Given the description of an element on the screen output the (x, y) to click on. 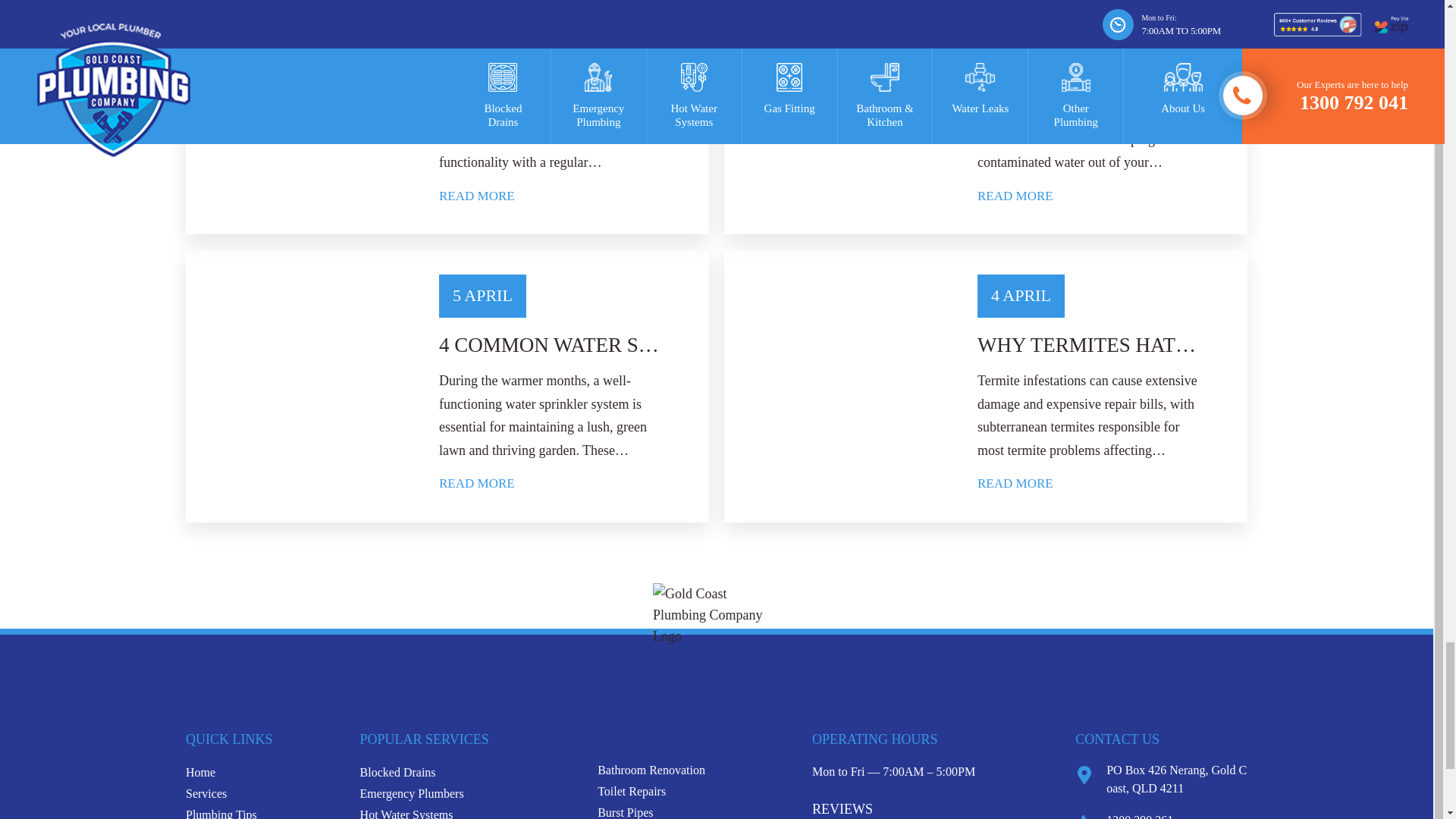
Hot Water Systems (405, 813)
Emergency Plumbers (411, 793)
Blocked Drains (397, 771)
Gold Coast Plumbing Company Homepage (200, 771)
Our Services (206, 793)
Plumbing Tips (221, 813)
